Given the description of an element on the screen output the (x, y) to click on. 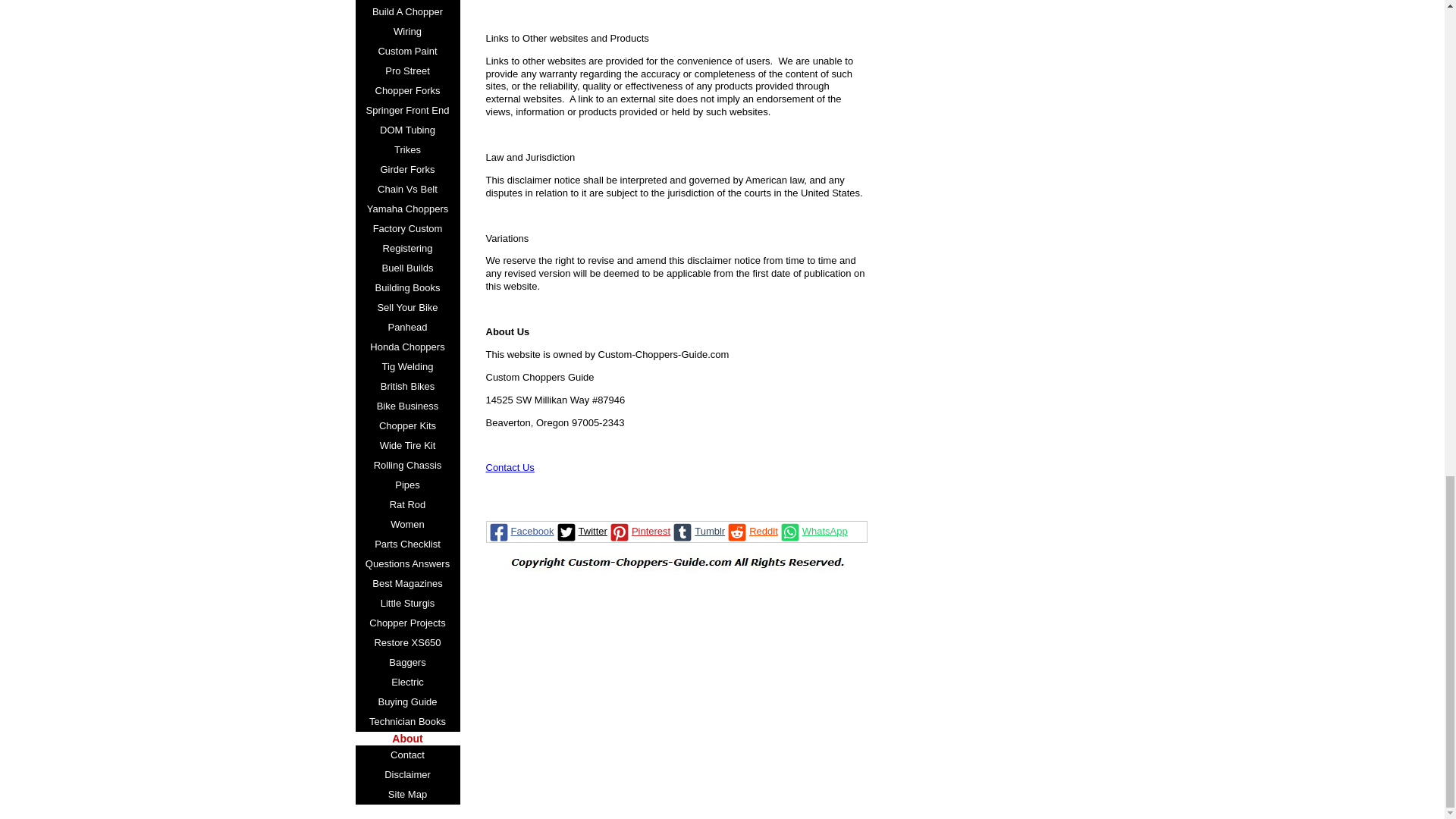
Springer Front End (407, 110)
Custom Paint (407, 51)
Tumblr (697, 531)
WhatsApp (812, 531)
Wiring (407, 31)
Pinterest (638, 531)
Chopper Forks (407, 90)
Facebook (520, 531)
Shovelhead (407, 1)
Twitter (580, 531)
Build A Chopper (407, 12)
Pro Street (407, 71)
Reddit (751, 531)
Contact Us (509, 467)
